Given the description of an element on the screen output the (x, y) to click on. 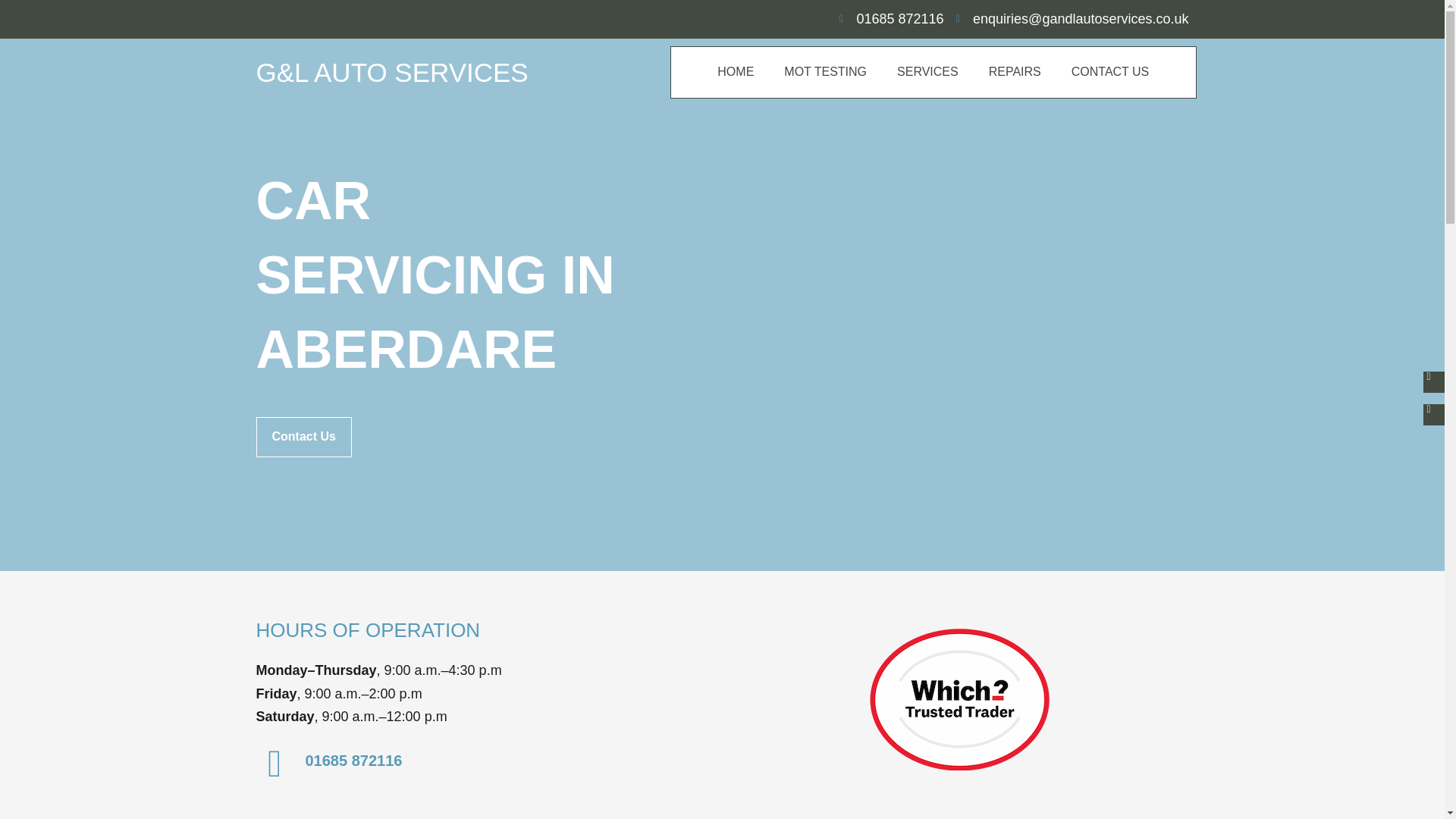
MOT TESTING (825, 71)
01685 872116 (891, 19)
CONTACT US (1110, 71)
SERVICES (928, 71)
REPAIRS (1015, 71)
01685 872116 (352, 760)
Contact Us (304, 436)
HOME (734, 71)
